Given the description of an element on the screen output the (x, y) to click on. 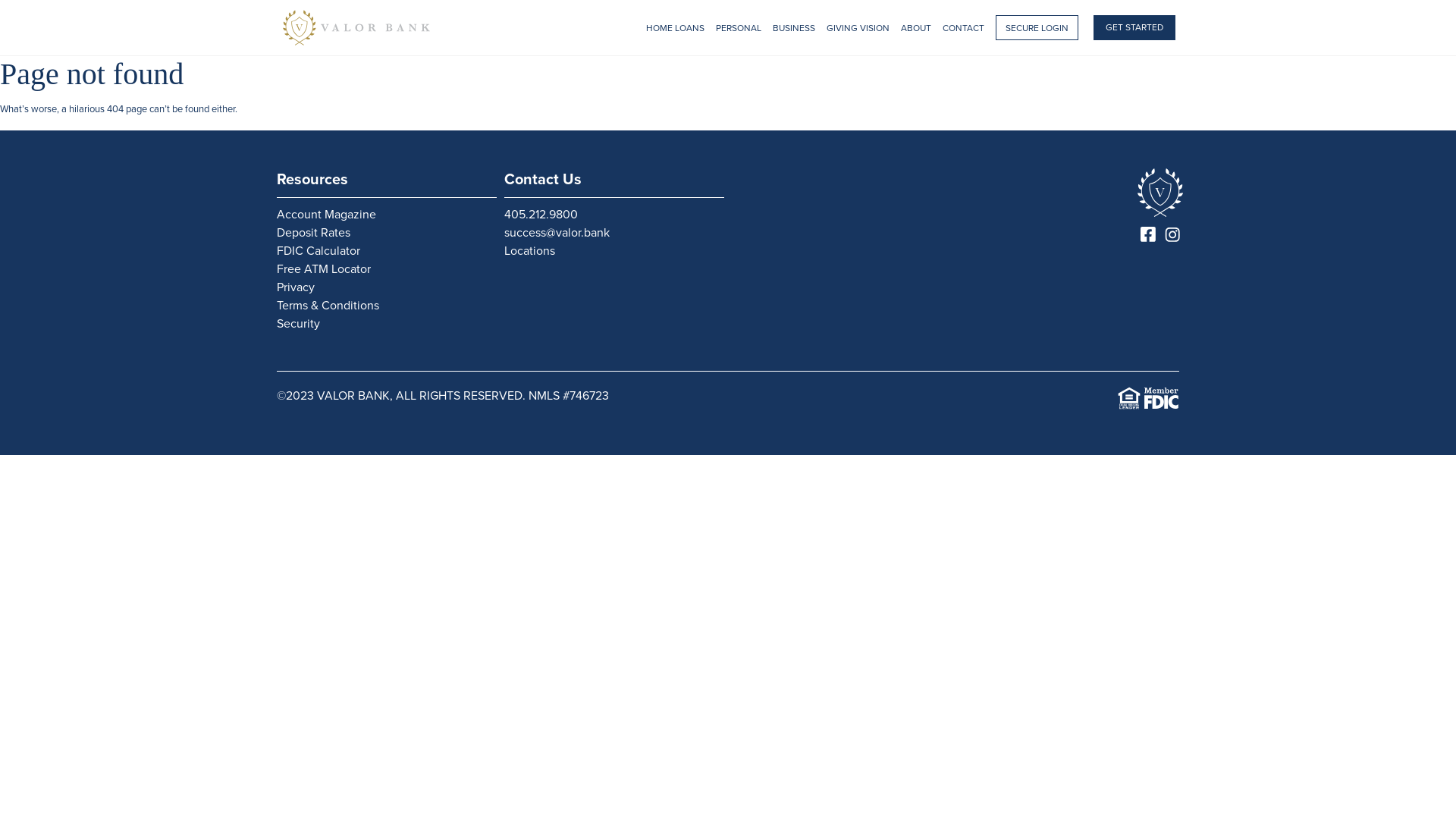
Free ATM Locator Element type: text (386, 269)
Security Element type: text (386, 323)
Locations Element type: text (614, 250)
Account Magazine Element type: text (386, 214)
success@valor.bank Element type: text (614, 232)
Terms & Conditions Element type: text (386, 305)
SECURE LOGIN Element type: text (1036, 27)
GET STARTED Element type: text (1134, 27)
Deposit Rates Element type: text (386, 232)
PERSONAL Element type: text (738, 28)
HOME LOANS Element type: text (675, 28)
405.212.9800 Element type: text (614, 214)
Privacy Element type: text (386, 287)
CONTACT Element type: text (963, 28)
ABOUT Element type: text (915, 28)
BUSINESS Element type: text (793, 28)
FDIC Calculator Element type: text (386, 250)
GIVING VISION Element type: text (857, 28)
